Given the description of an element on the screen output the (x, y) to click on. 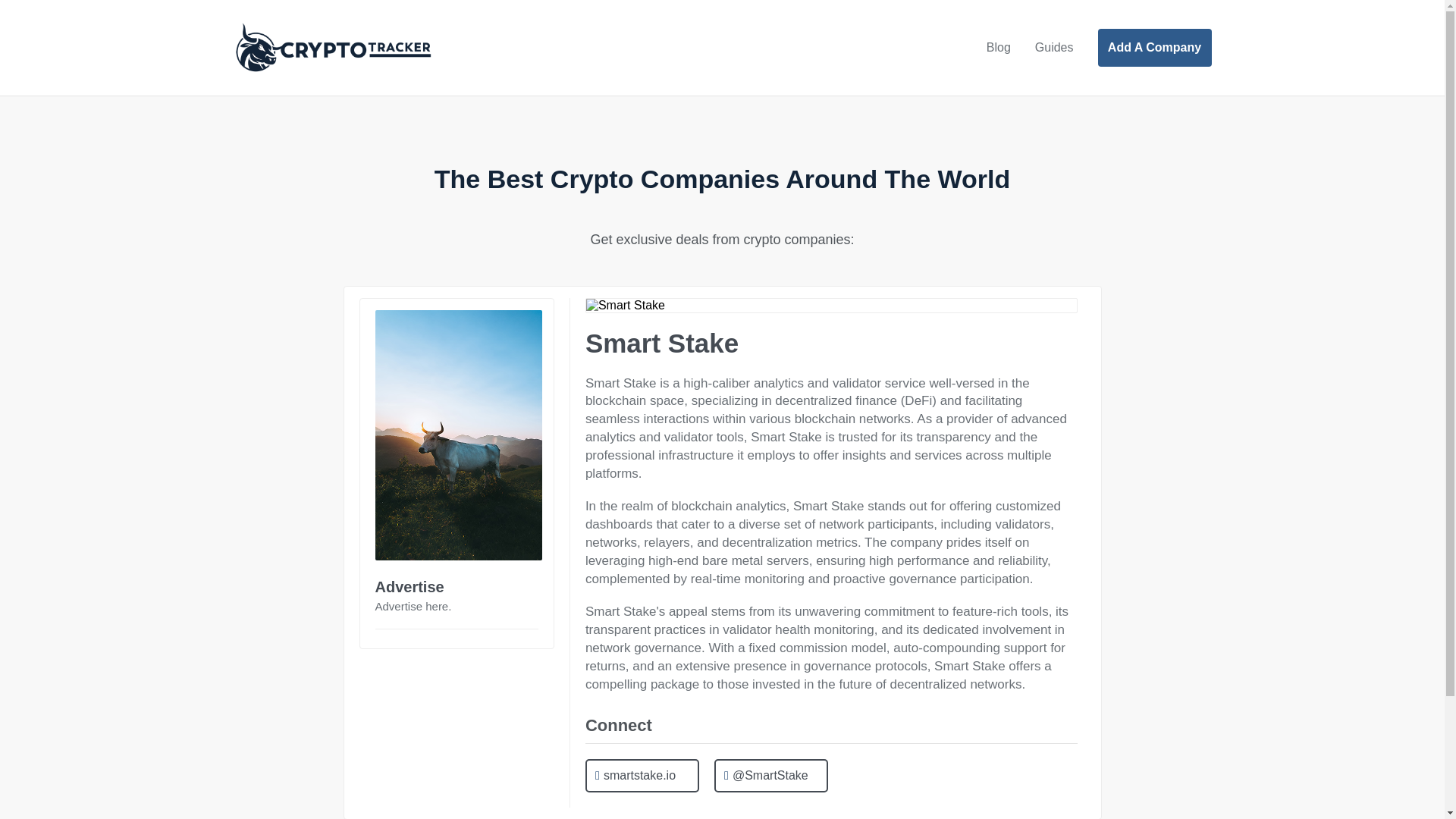
Advertise (409, 586)
Guides (1054, 47)
smartstake.io (641, 776)
Add A Company (1154, 47)
Blog (998, 47)
